Given the description of an element on the screen output the (x, y) to click on. 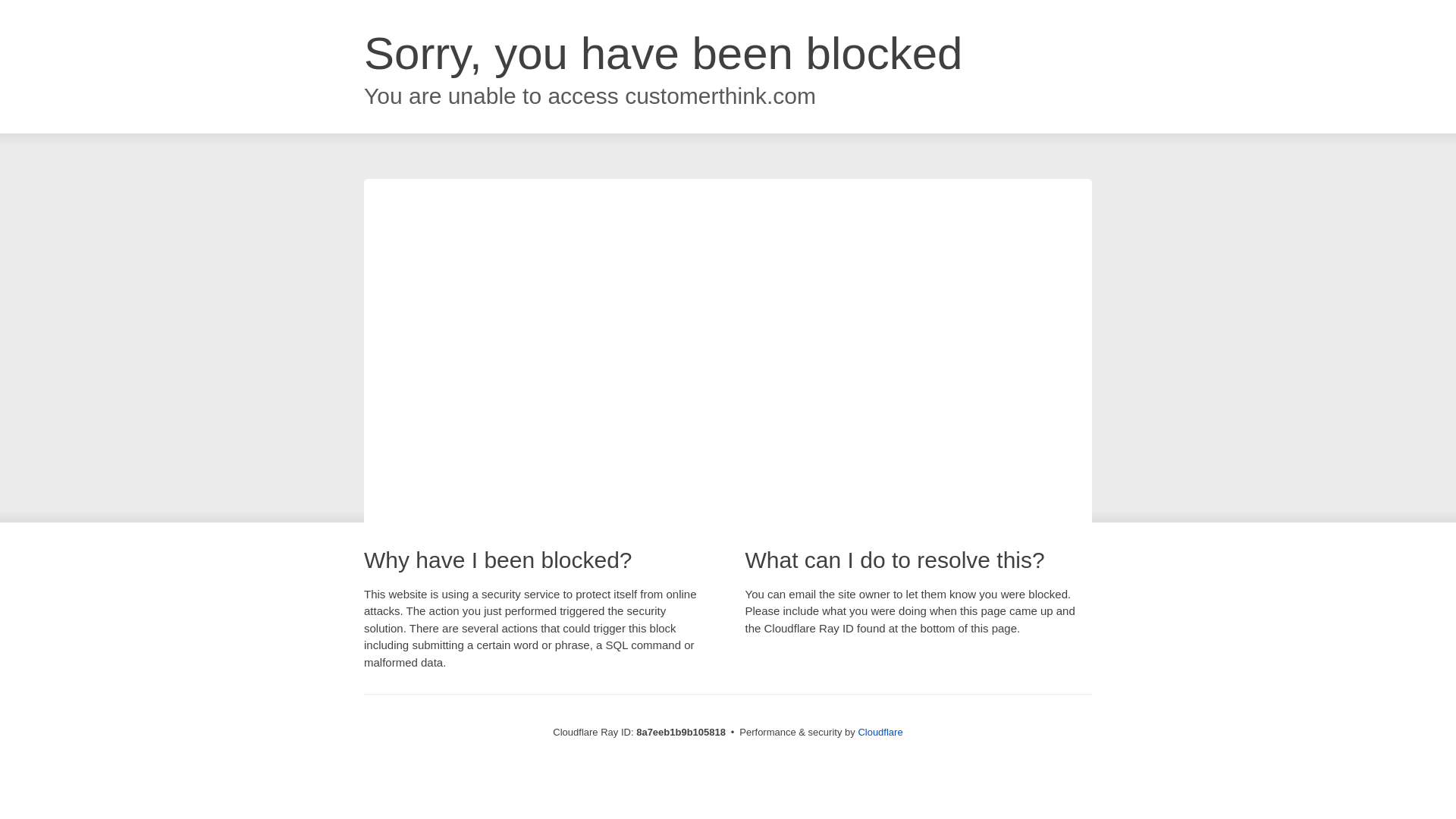
Cloudflare (879, 731)
